Given the description of an element on the screen output the (x, y) to click on. 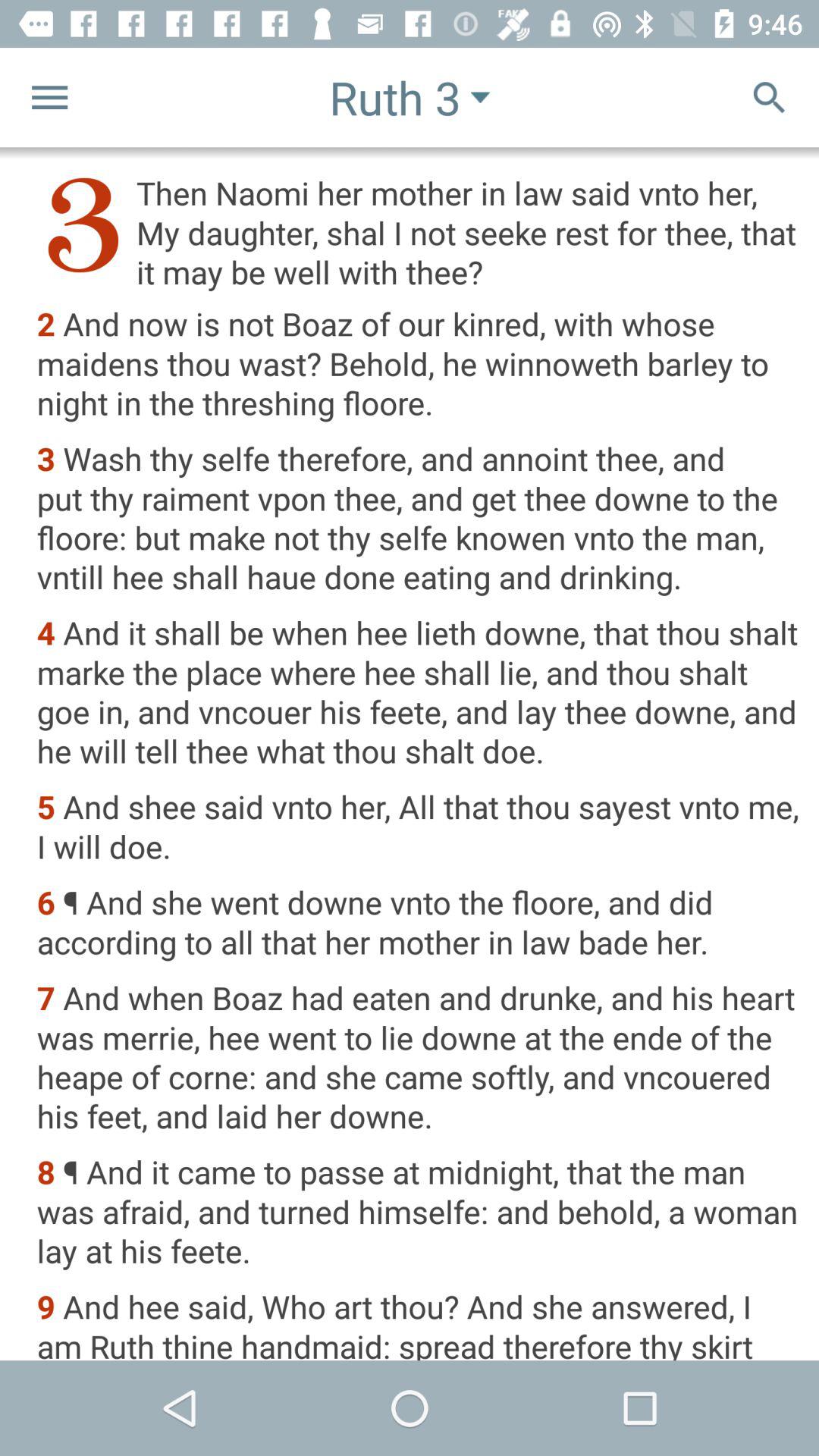
swipe until the then naomi her (417, 232)
